Given the description of an element on the screen output the (x, y) to click on. 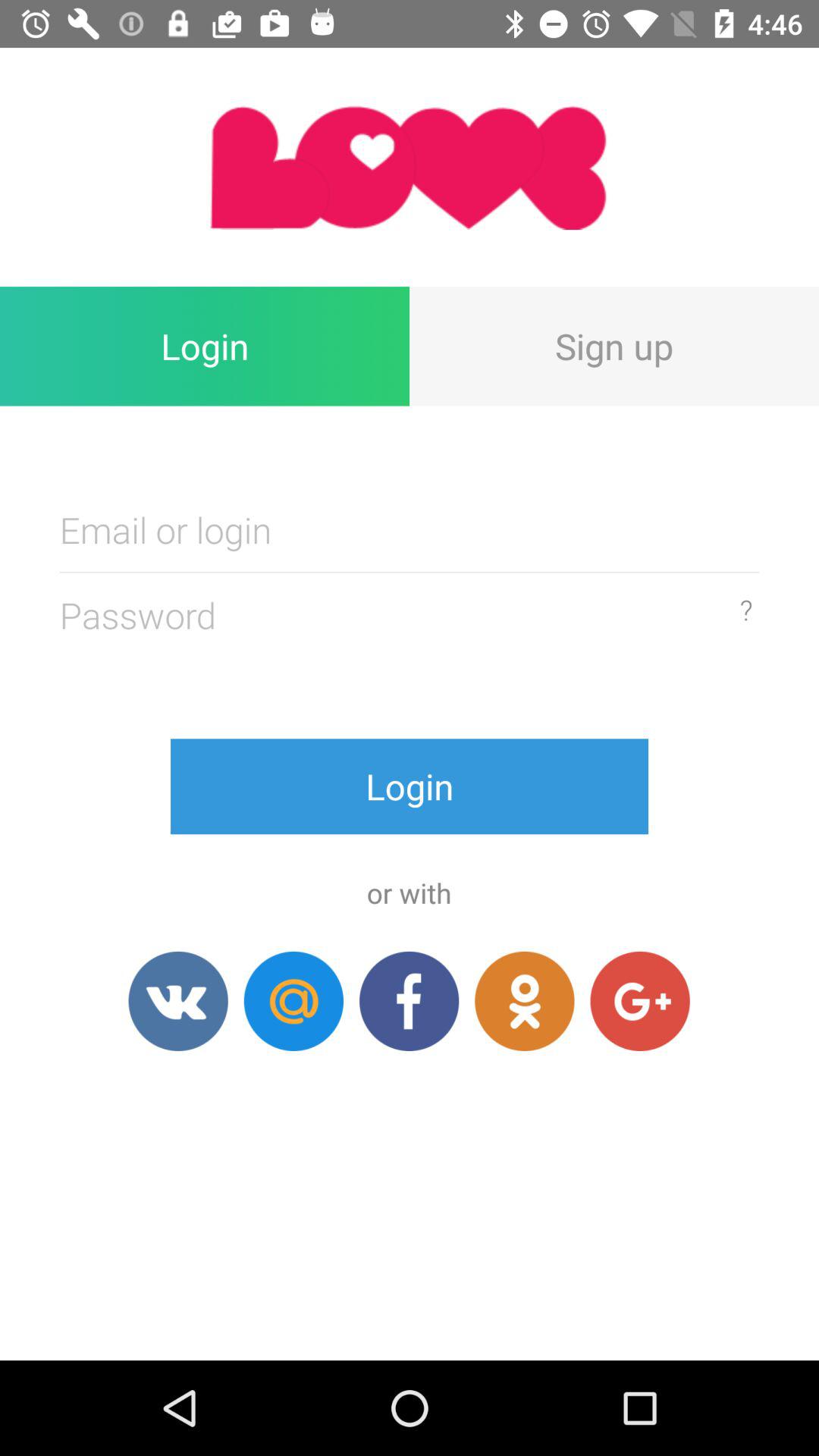
swipe until ?  item (746, 609)
